Given the description of an element on the screen output the (x, y) to click on. 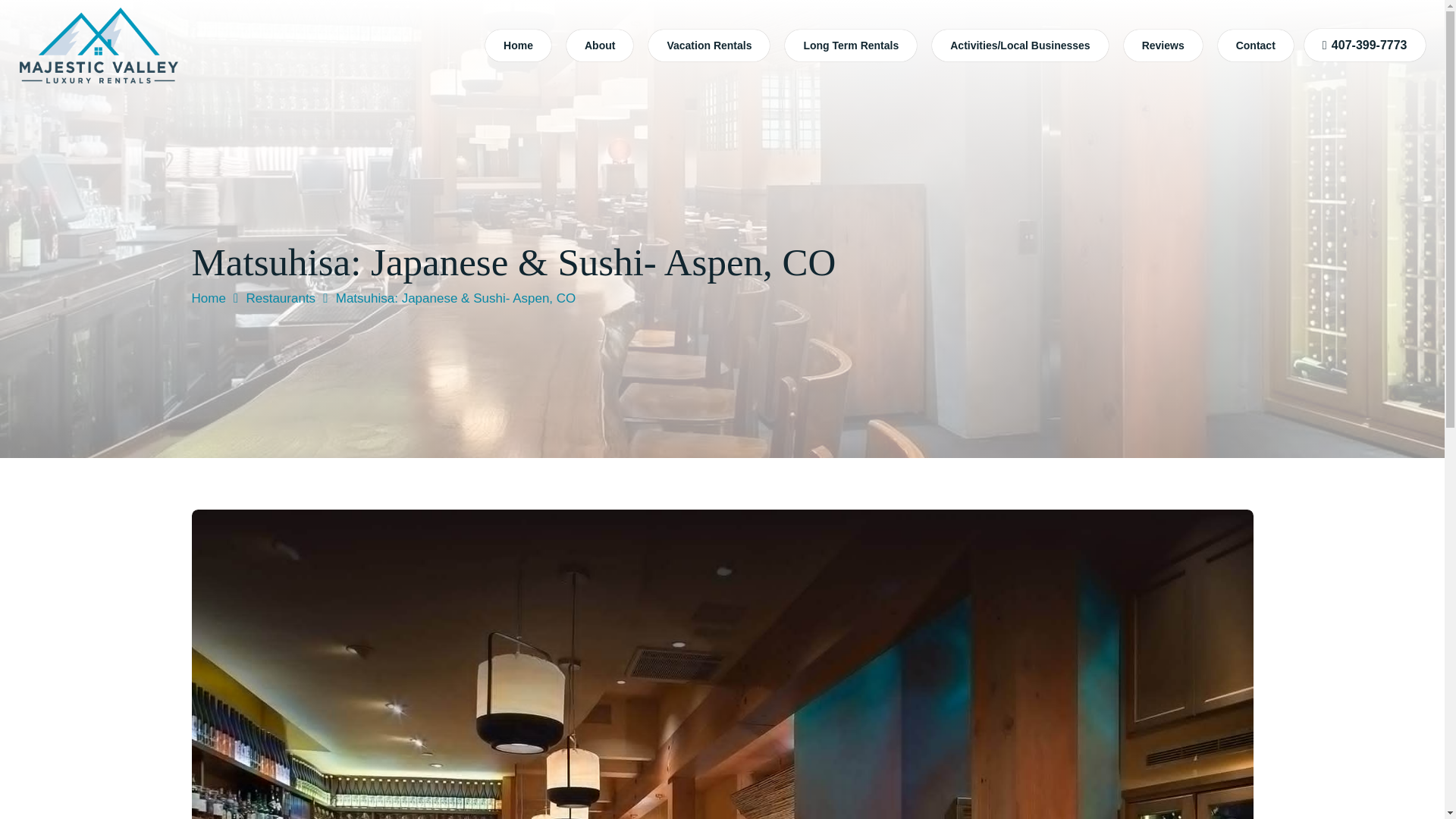
About (599, 45)
Contact (1255, 45)
Vacation Rentals (708, 45)
Long Term Rentals (850, 45)
407-399-7773 (1364, 44)
Reviews (1162, 45)
Home (207, 298)
Home (518, 45)
Restaurants (280, 298)
